Given the description of an element on the screen output the (x, y) to click on. 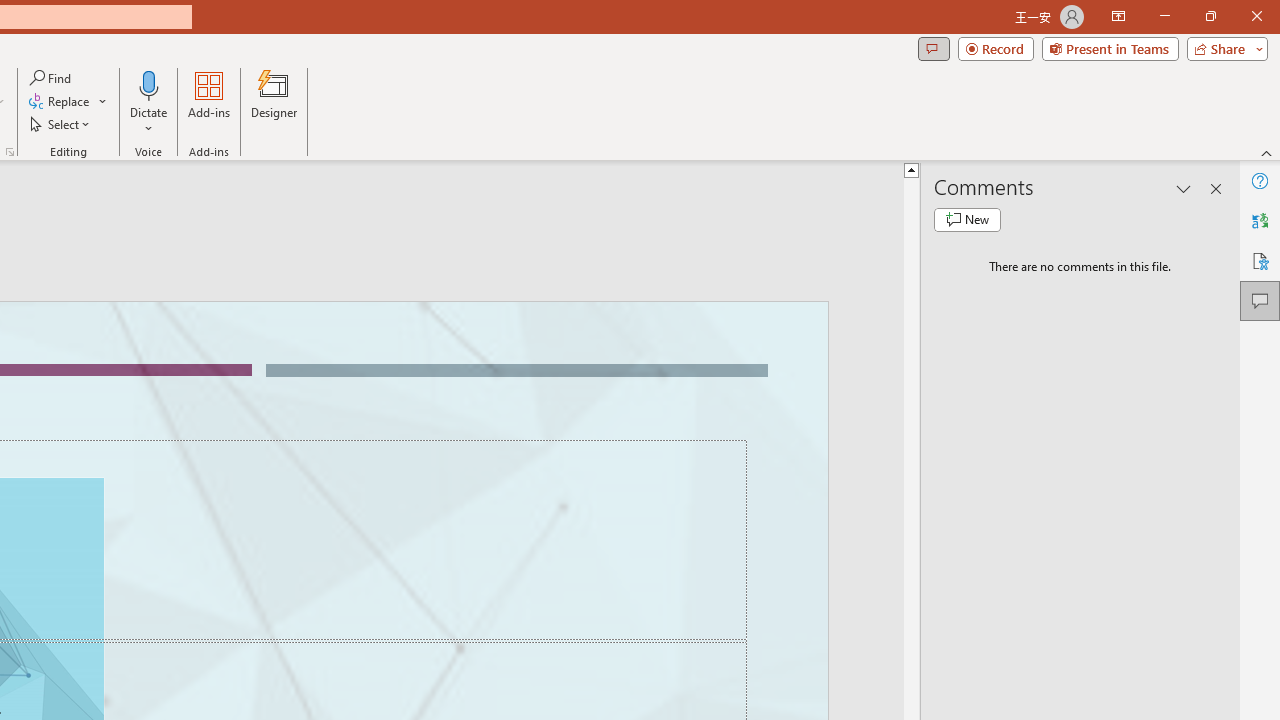
644553698@qq.com (996, 672)
Copilot (Ctrl+Shift+.) (1241, 82)
